Given the description of an element on the screen output the (x, y) to click on. 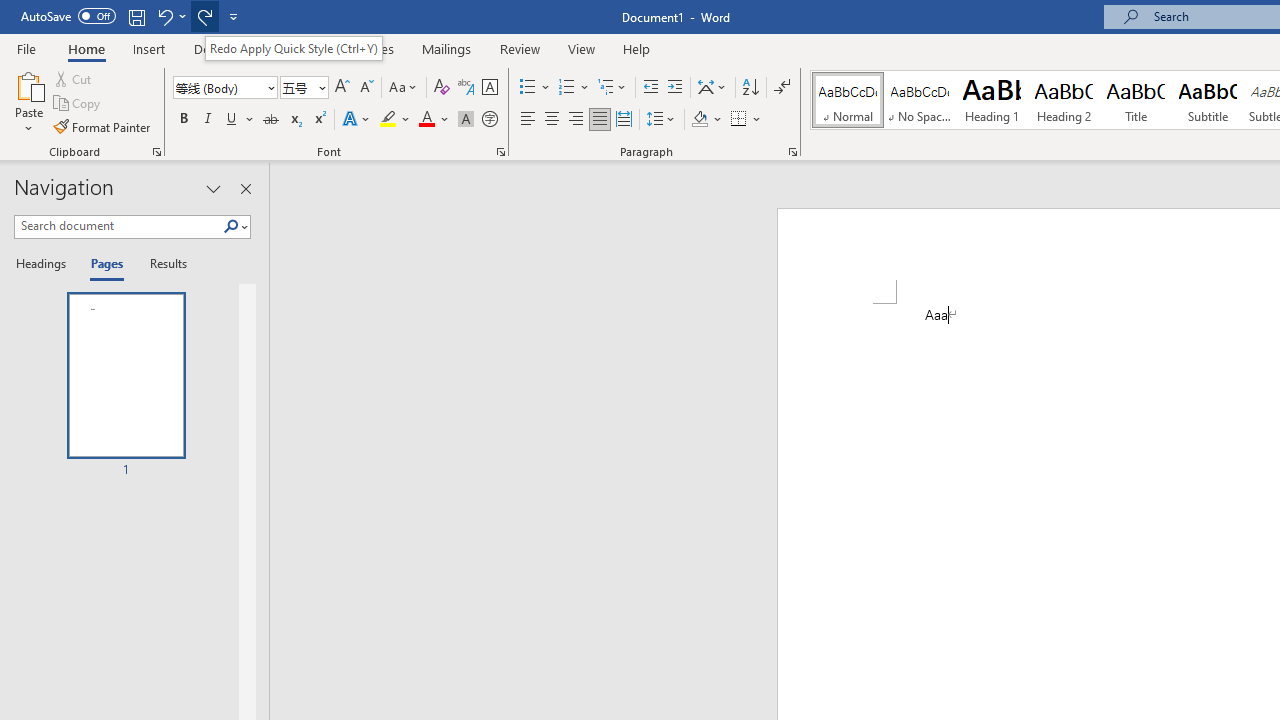
Subtitle (1208, 100)
Redo Apply Quick Style (Ctrl+Y) (293, 48)
